Given the description of an element on the screen output the (x, y) to click on. 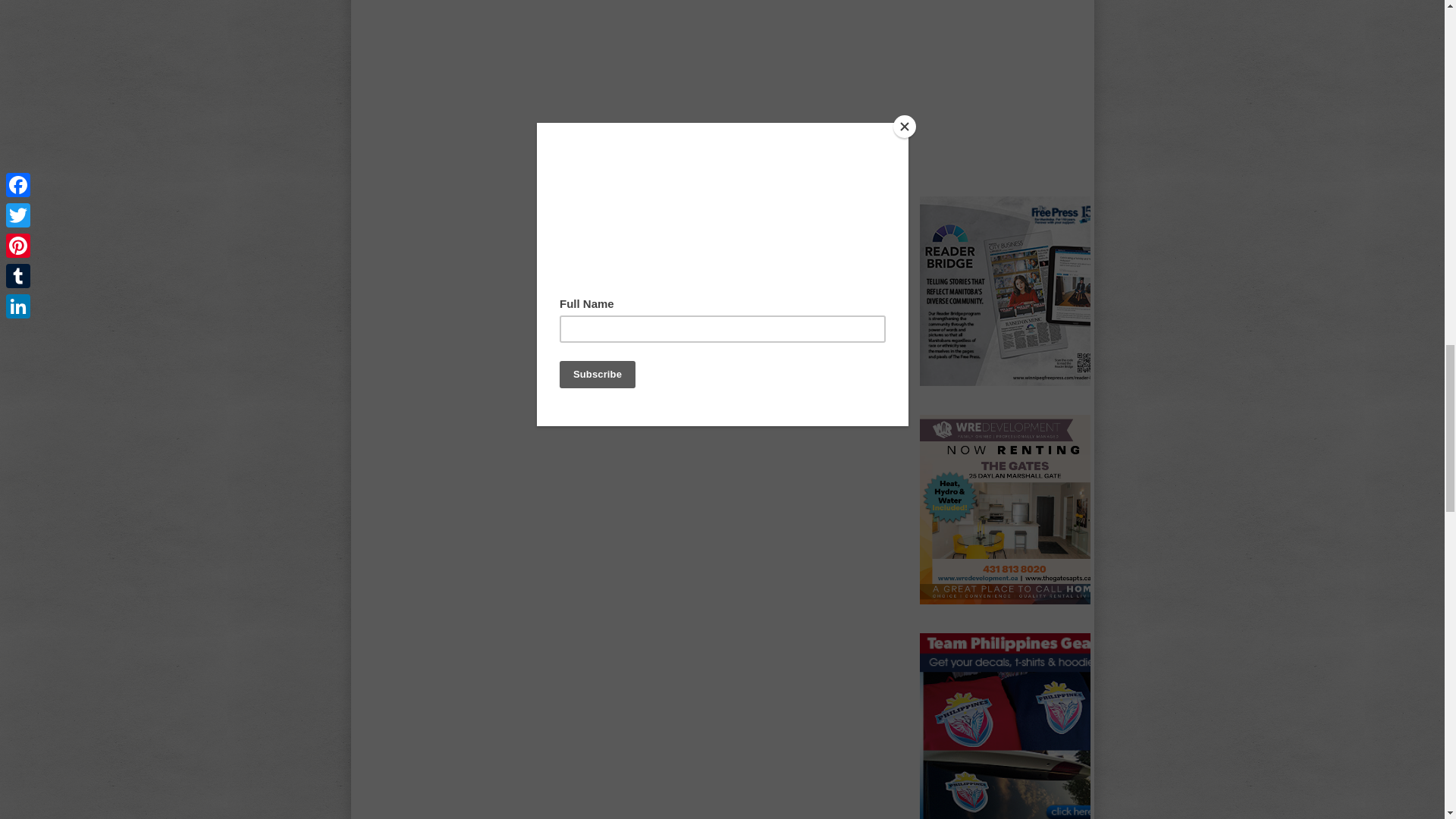
WRE (1013, 509)
Team Philippines (1013, 726)
